Given the description of an element on the screen output the (x, y) to click on. 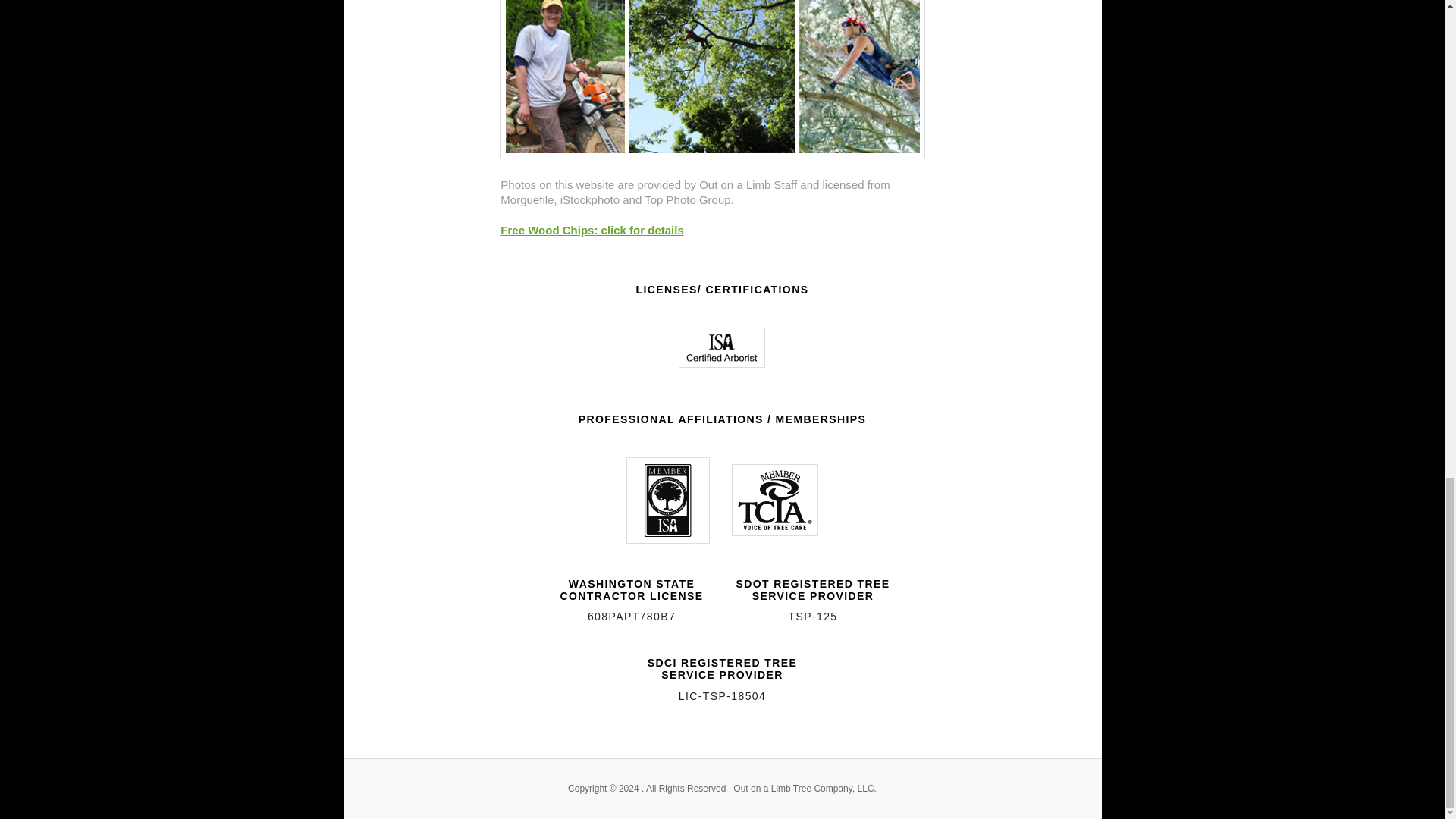
Tree Care Industry Association (775, 500)
Free Wood Chips: click for details (591, 229)
International Society of Arboriculture (721, 347)
International Society of Arboriculture (668, 500)
